Given the description of an element on the screen output the (x, y) to click on. 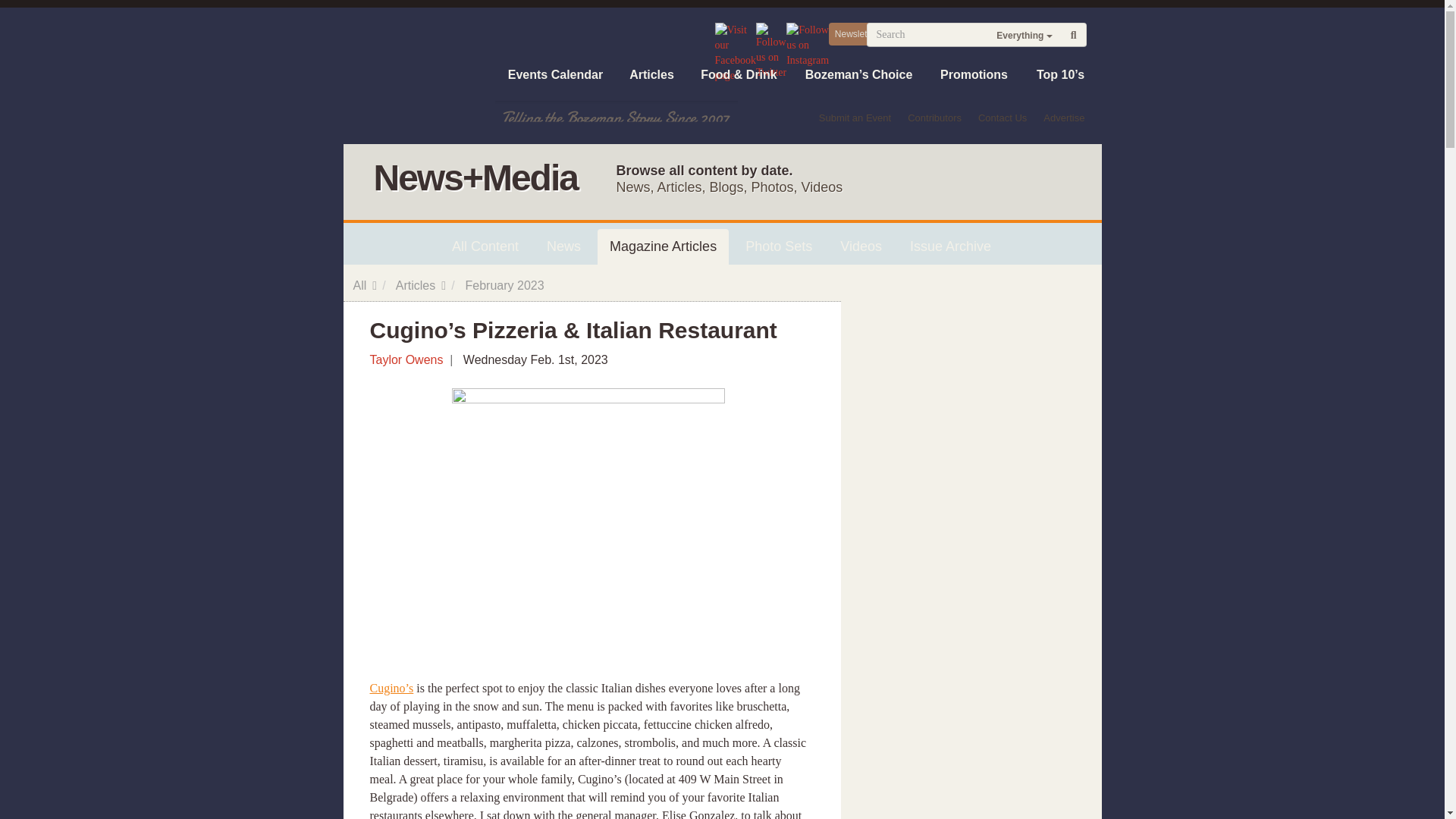
Promotions (973, 74)
Events Calendar (555, 74)
Articles (651, 74)
Follow us on Twitter (770, 50)
Everything (1024, 34)
Bozeman Magazine (418, 75)
Follow us on Instagram (807, 43)
Sign up for our weekly newsletter! (855, 33)
Visit our Facebook page (734, 51)
Newsletter (855, 33)
